Given the description of an element on the screen output the (x, y) to click on. 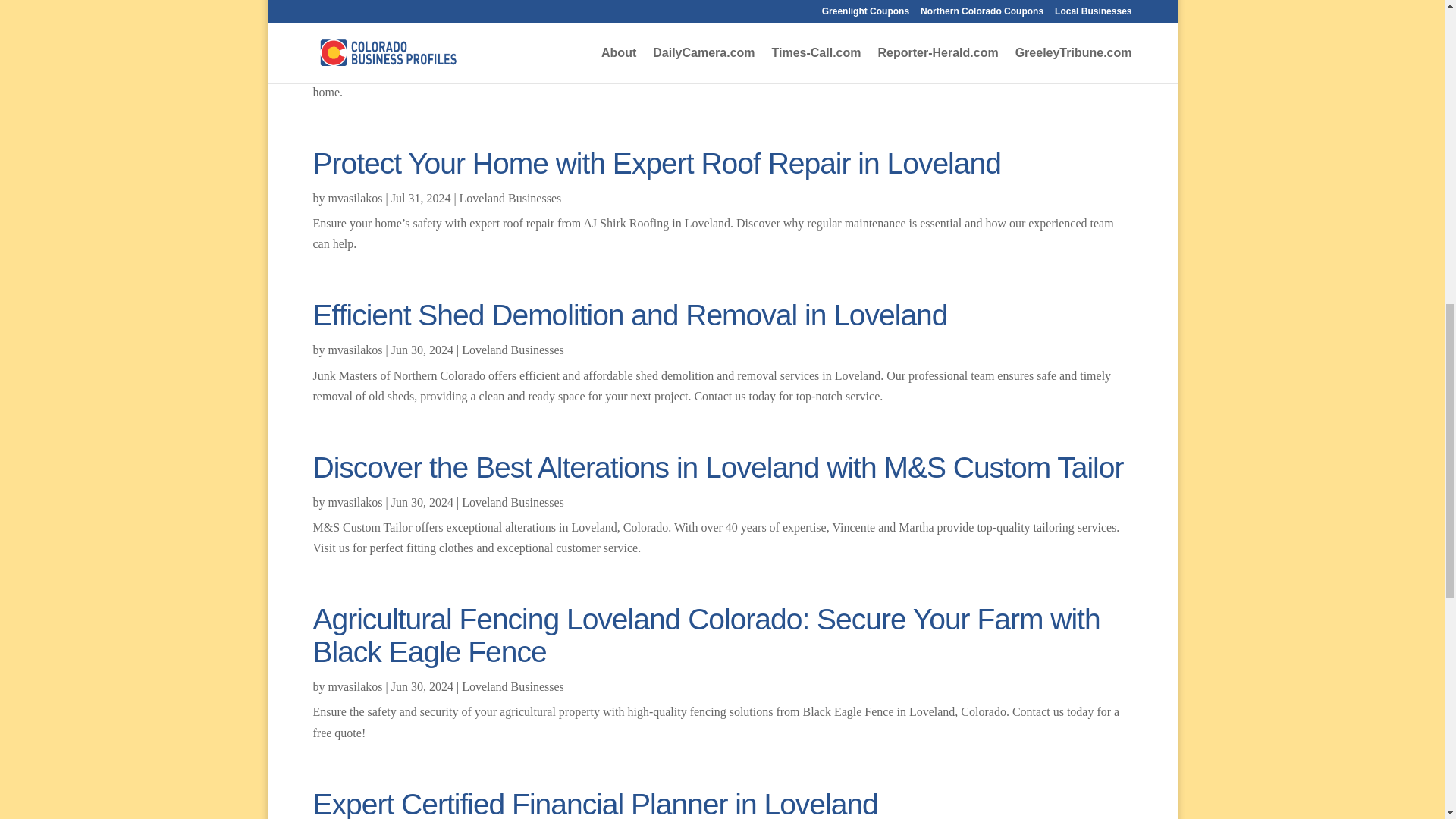
Posts by mvasilakos (354, 502)
mvasilakos (354, 45)
Posts by mvasilakos (354, 349)
mvasilakos (354, 502)
Loveland Businesses (511, 197)
Expert Certified Financial Planner in Loveland (595, 803)
Protect Your Home with Expert Roof Repair in Loveland (656, 163)
Posts by mvasilakos (354, 686)
Loveland Businesses (512, 686)
mvasilakos (354, 686)
Loveland Businesses (512, 502)
Efficient Shed Demolition and Removal in Loveland (630, 314)
Posts by mvasilakos (354, 197)
Loveland Businesses (511, 45)
Top 5 Kitchen Appliances Every Home Needs in Loveland (669, 13)
